Given the description of an element on the screen output the (x, y) to click on. 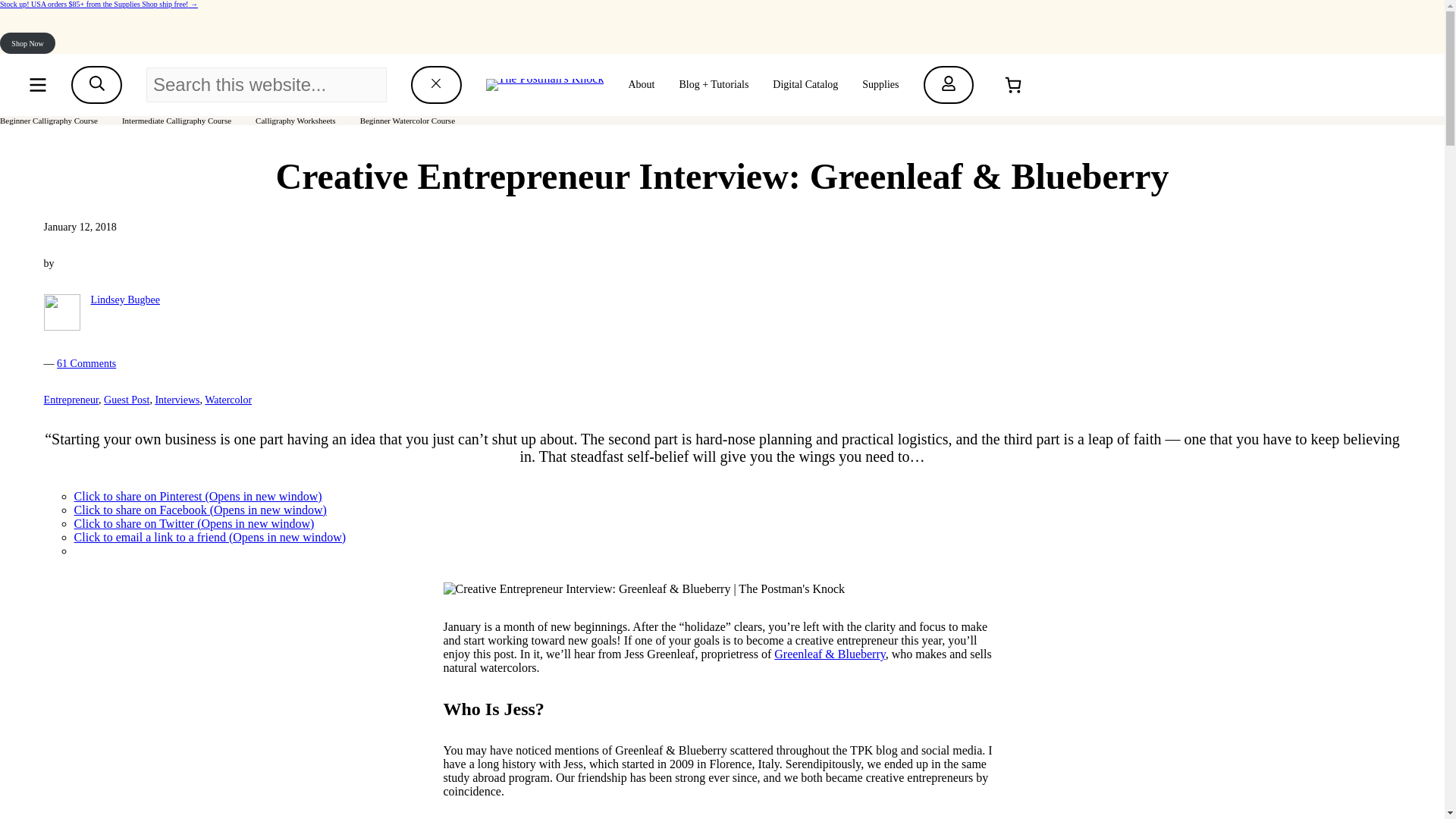
Click to share on Twitter (194, 522)
Shop Now (27, 43)
Click to share on Pinterest (197, 495)
Click to email a link to a friend (210, 536)
Click to share on Facebook (200, 509)
